Given the description of an element on the screen output the (x, y) to click on. 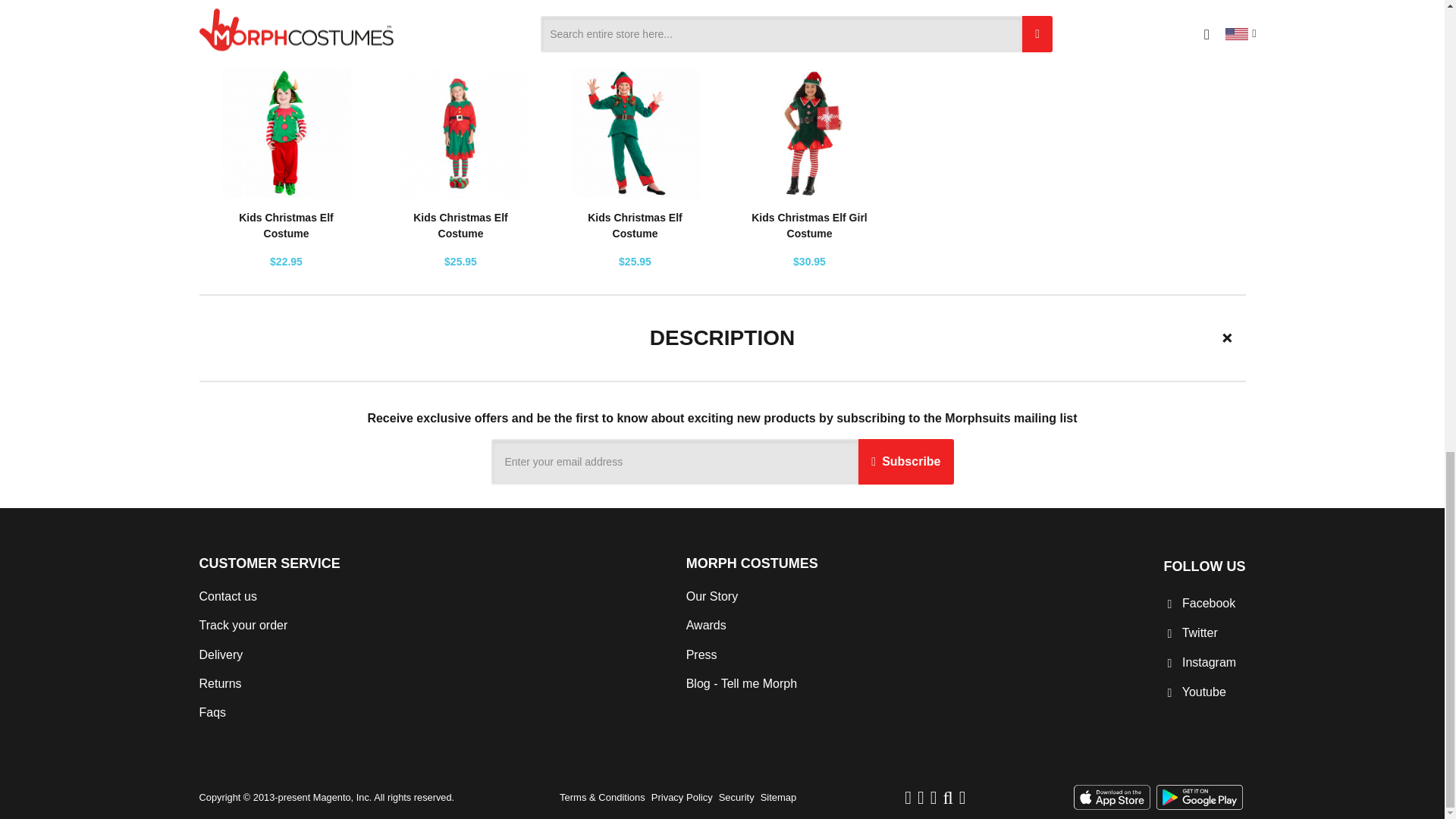
Subscribe (906, 461)
Kids Christmas Elf Girl Costume (808, 225)
Kids Christmas Elf Costume (285, 225)
Kids Christmas Elf Costume (459, 225)
Kids Christmas Elf Costume (634, 225)
